Given the description of an element on the screen output the (x, y) to click on. 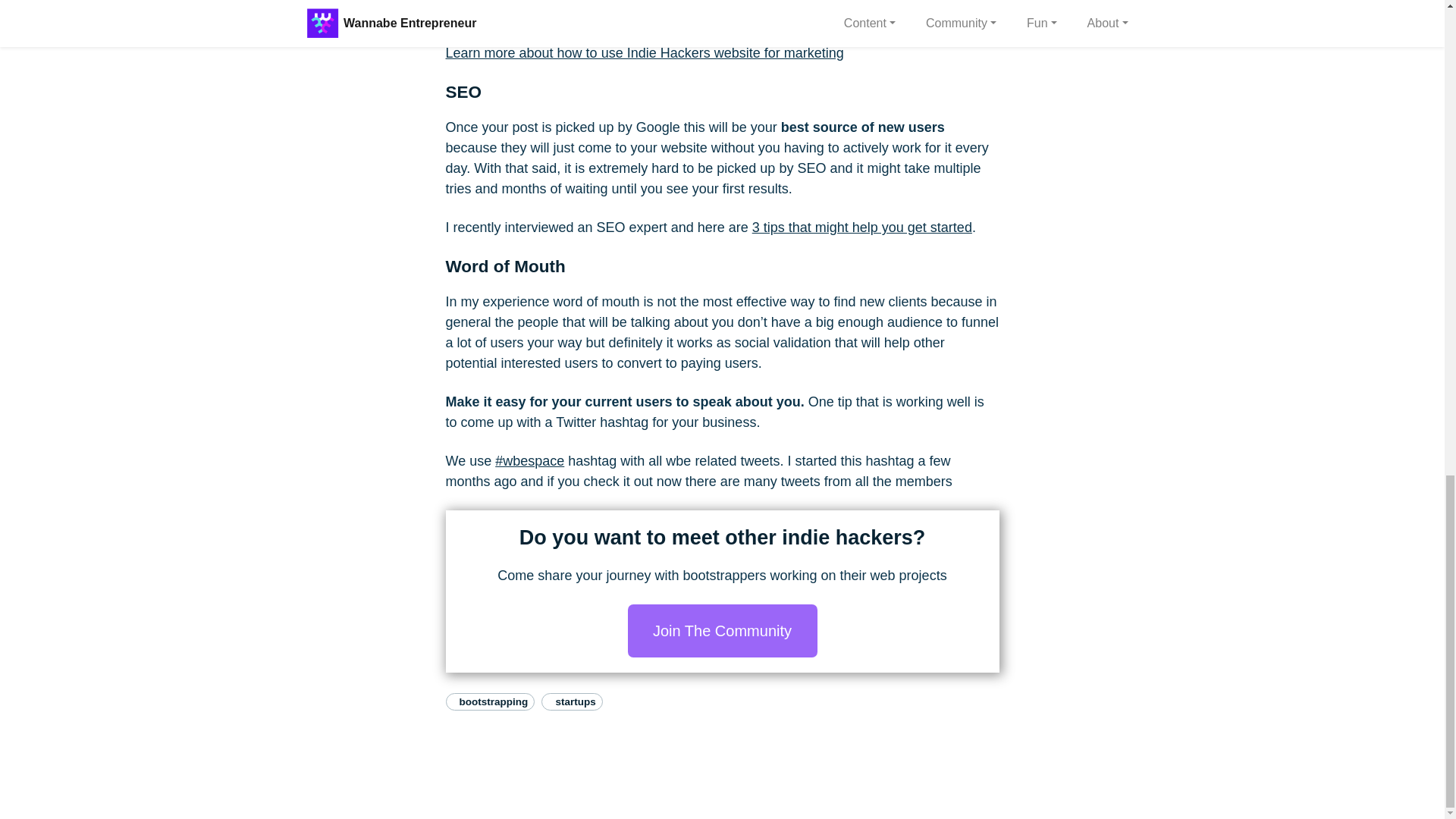
Join The Community (721, 630)
startups (571, 701)
3 tips that might help you get started (862, 227)
bootstrapping (490, 701)
